Given the description of an element on the screen output the (x, y) to click on. 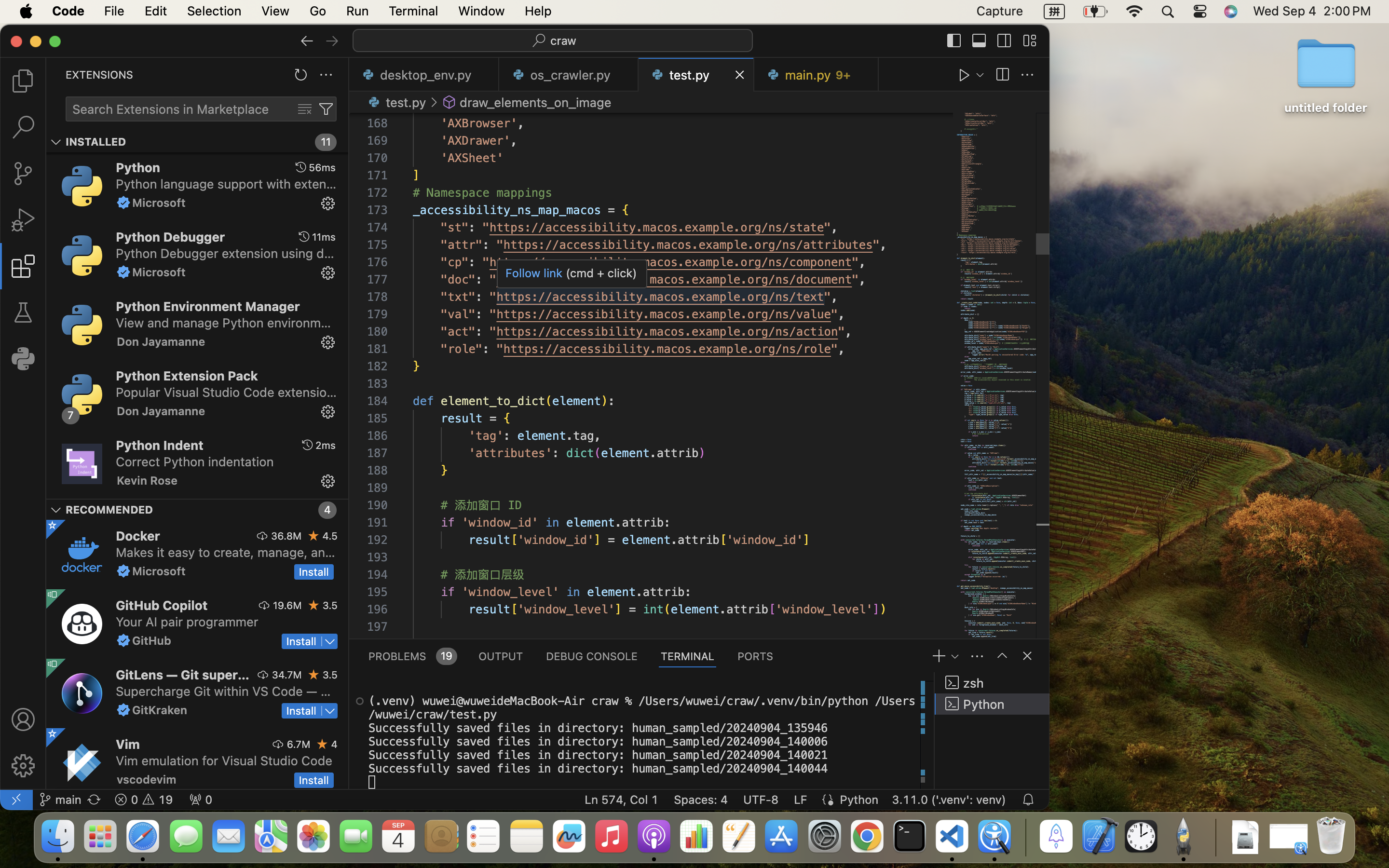
 Element type: AXStaticText (261, 535)
2ms Element type: AXStaticText (325, 444)
Vim Element type: AXStaticText (127, 743)
 Element type: AXStaticText (52, 524)
0 os_crawler.py   Element type: AXRadioButton (568, 74)
